Given the description of an element on the screen output the (x, y) to click on. 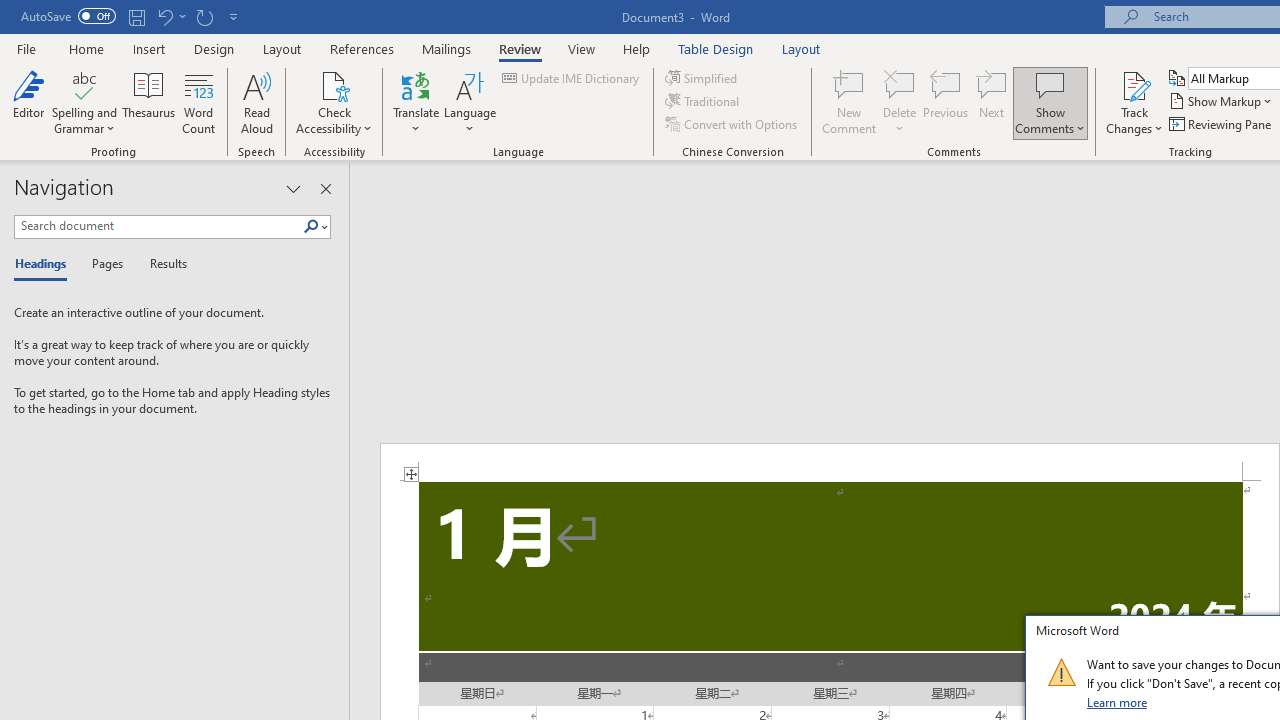
Show Markup (1222, 101)
Translate (415, 102)
Spelling and Grammar (84, 84)
Track Changes (1134, 84)
Reviewing Pane (1221, 124)
Results (161, 264)
